Given the description of an element on the screen output the (x, y) to click on. 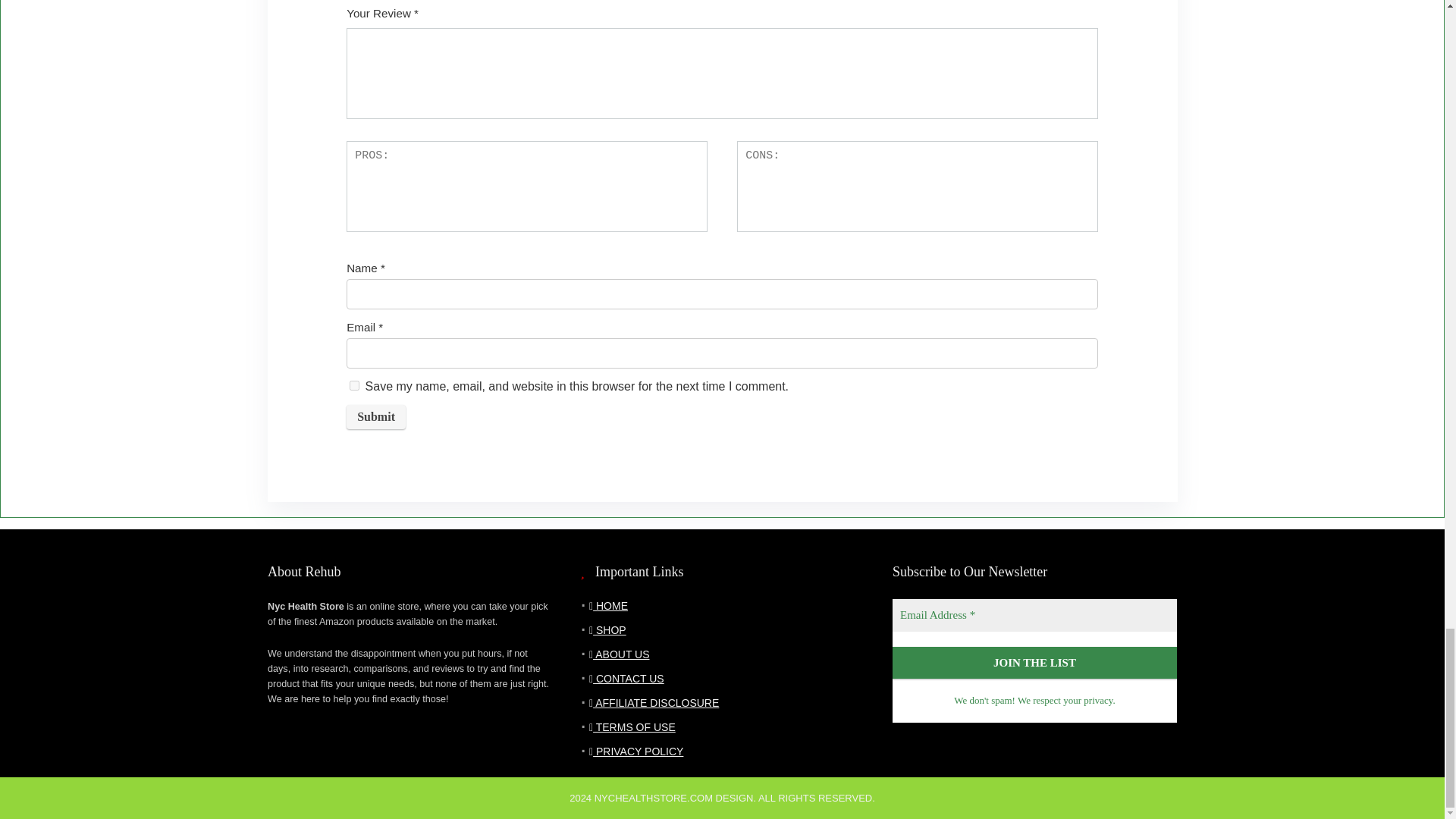
JOIN THE LIST (1034, 663)
yes (354, 385)
Submit (376, 416)
Email Address (1034, 614)
